Given the description of an element on the screen output the (x, y) to click on. 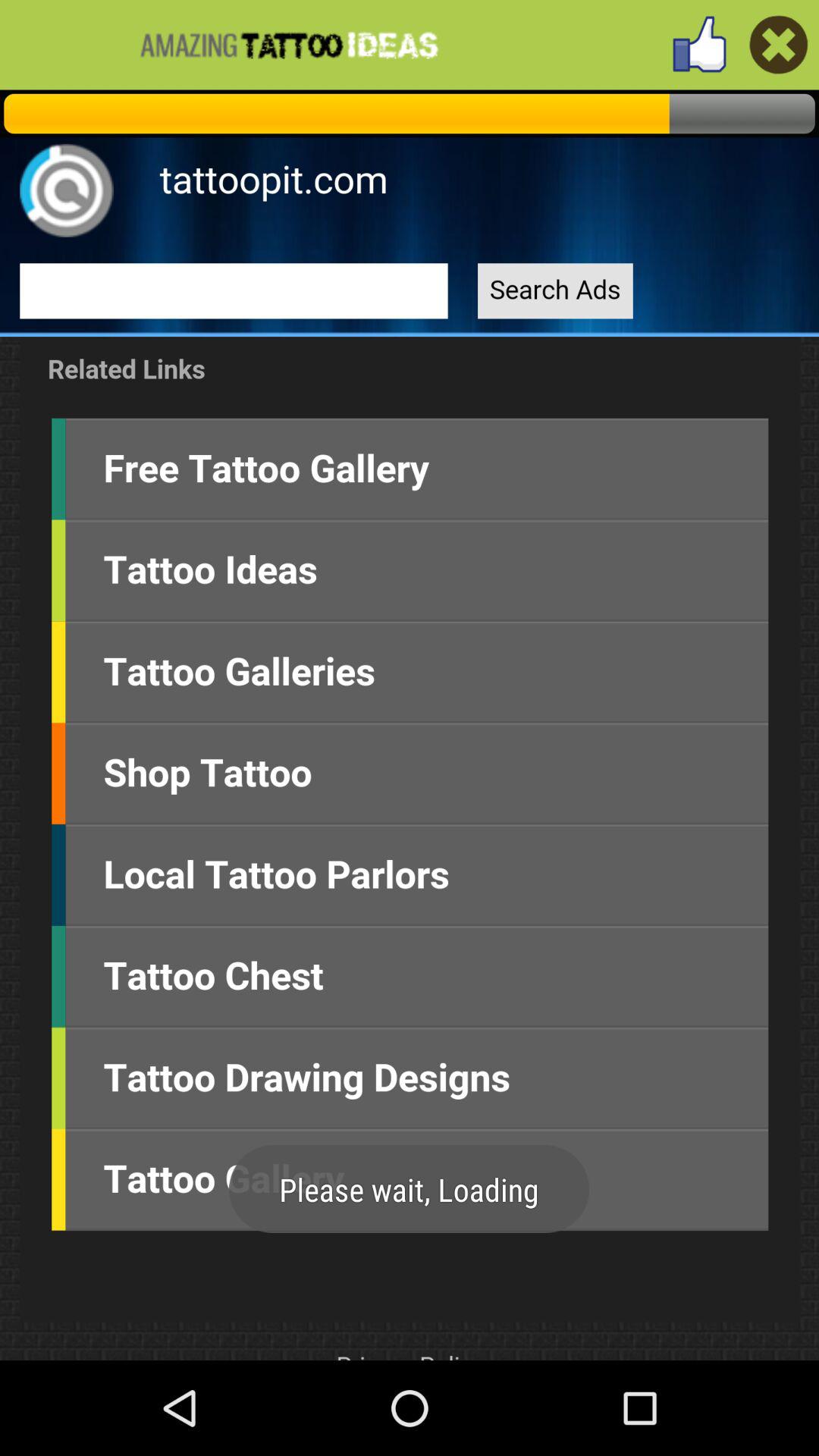
close button (778, 44)
